Given the description of an element on the screen output the (x, y) to click on. 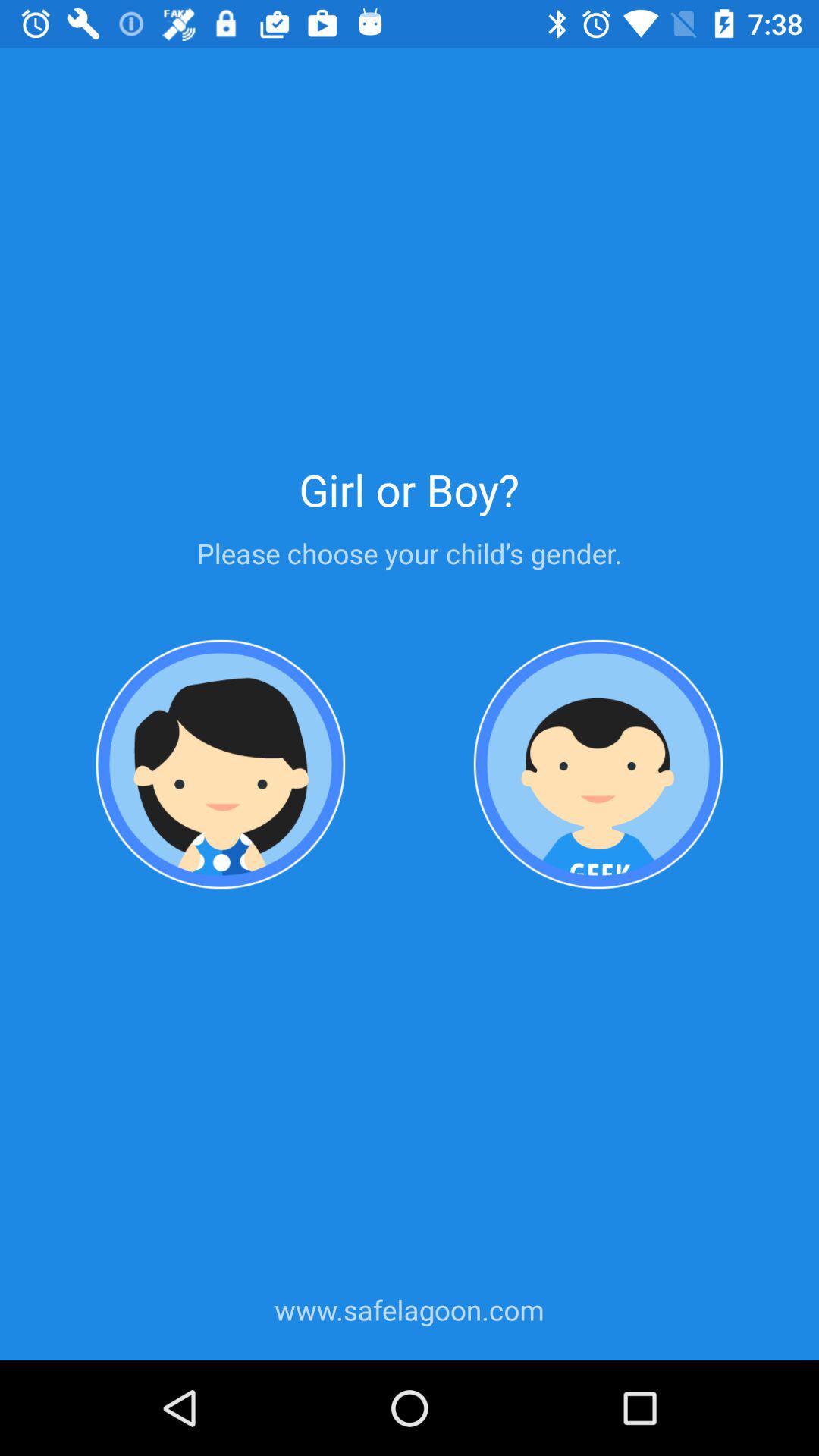
choose gender (220, 765)
